Given the description of an element on the screen output the (x, y) to click on. 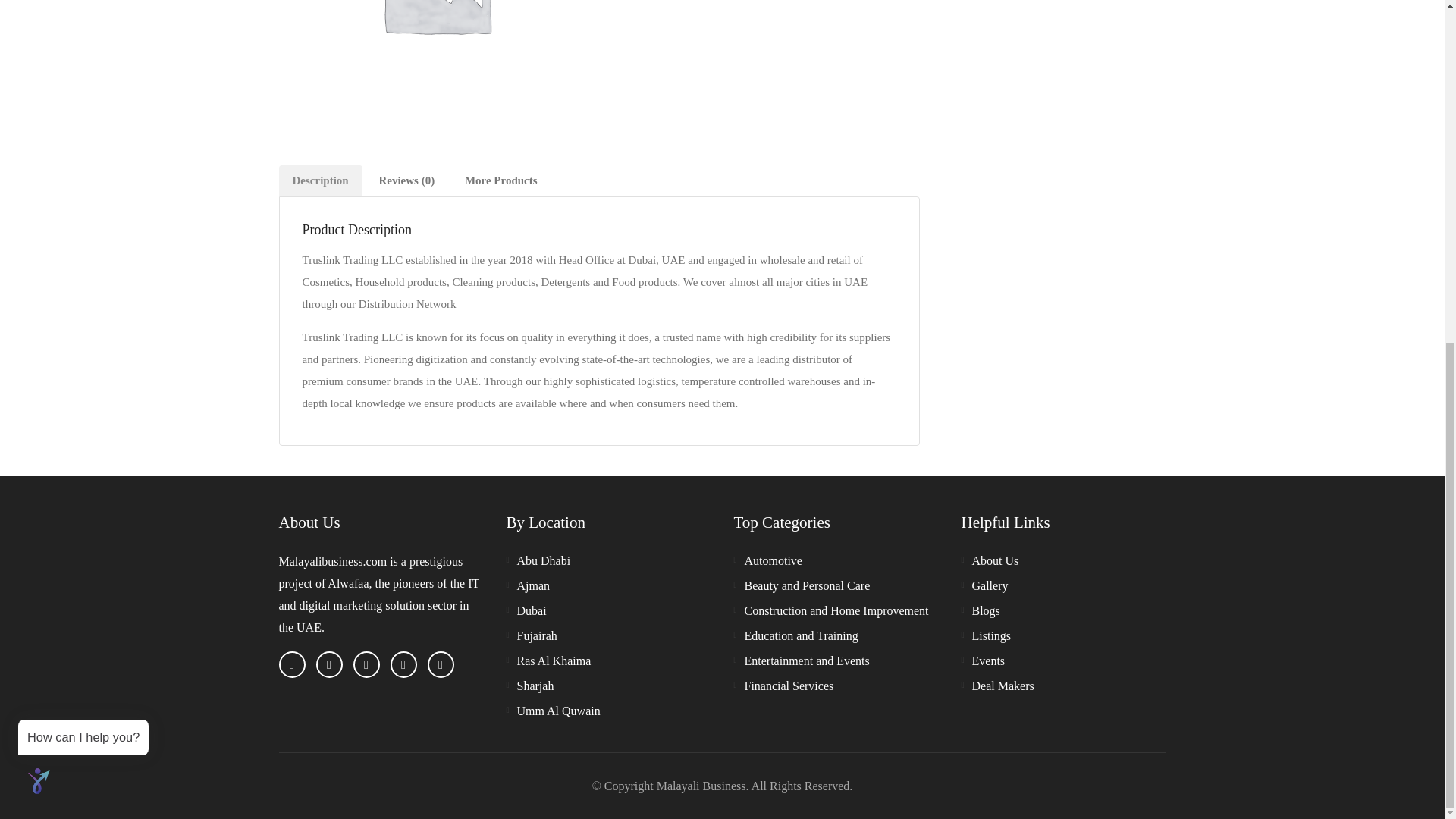
More Products (501, 180)
Description (320, 180)
